Given the description of an element on the screen output the (x, y) to click on. 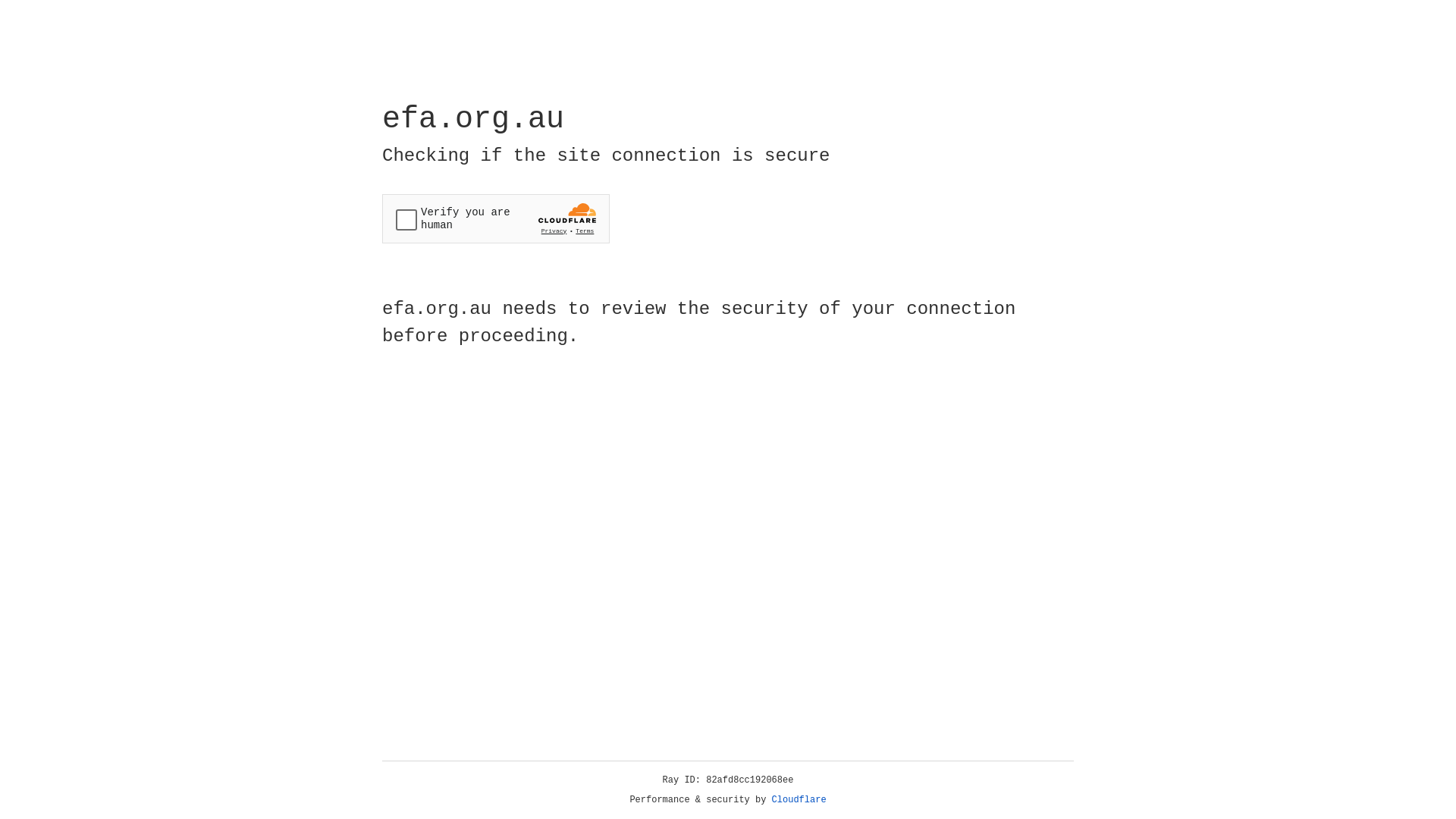
Widget containing a Cloudflare security challenge Element type: hover (495, 218)
Cloudflare Element type: text (798, 799)
